Given the description of an element on the screen output the (x, y) to click on. 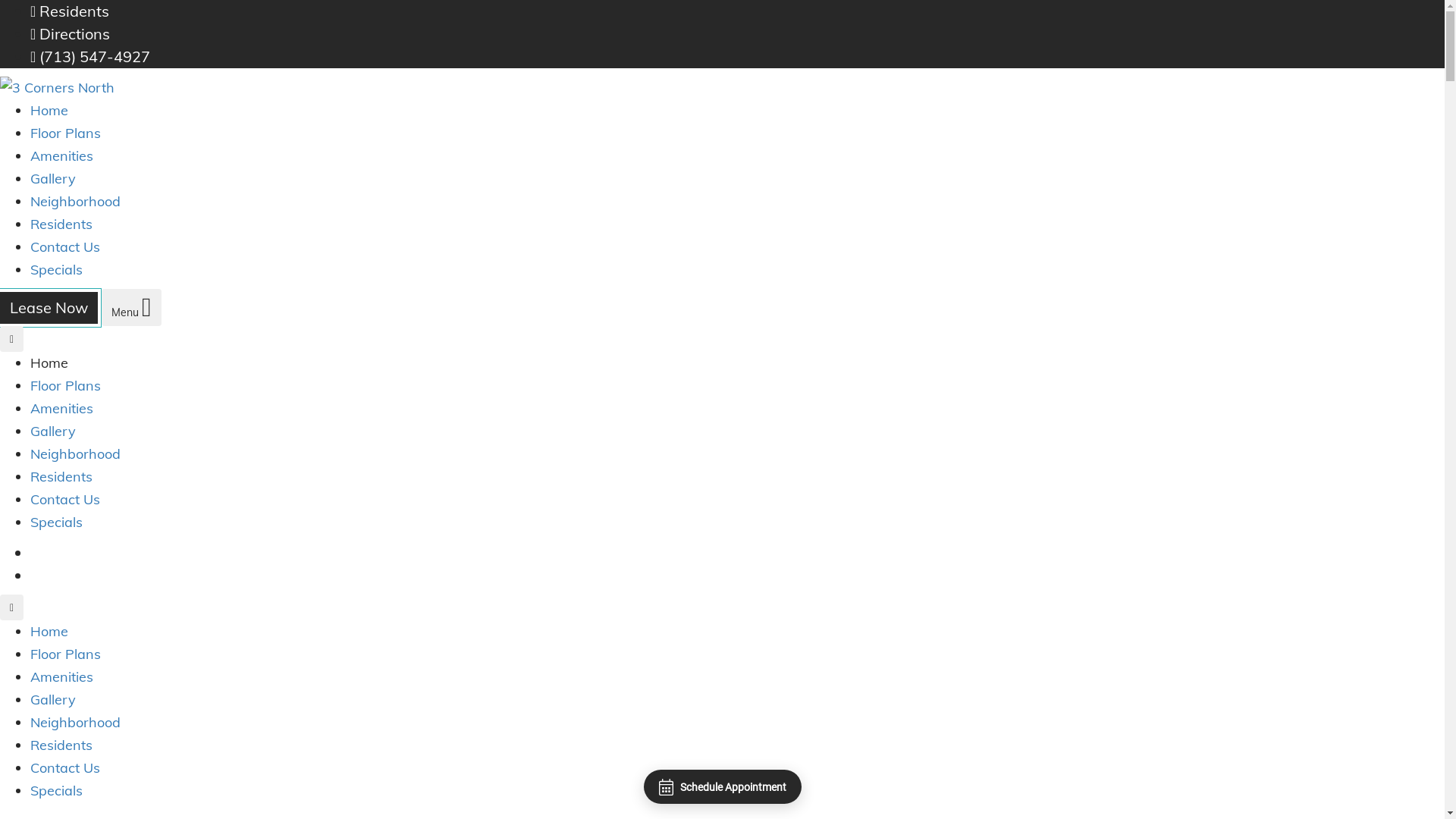
(713) 547-4927 Element type: text (90, 56)
(713) 547-4927 Element type: text (90, 551)
Residents Element type: text (69, 10)
Floor Plans Element type: text (65, 653)
Home Element type: text (49, 631)
Residents Element type: text (61, 476)
Contact Us Element type: text (65, 246)
Floor Plans Element type: text (65, 132)
Directions Element type: text (69, 33)
Neighborhood Element type: text (75, 722)
Gallery Element type: text (52, 699)
Gallery Element type: text (52, 430)
Specials Element type: text (56, 521)
Contact Us Element type: text (65, 767)
Floor Plans Element type: text (65, 385)
Contact Us Element type: text (65, 499)
Neighborhood Element type: text (75, 453)
Amenities Element type: text (61, 155)
Neighborhood Element type: text (75, 201)
Amenities Element type: text (61, 676)
Schedule Appointment Element type: text (721, 786)
Residents Element type: text (61, 744)
Amenities Element type: text (61, 408)
Specials Element type: text (56, 790)
Specials Element type: text (56, 269)
Lease Now Element type: text (48, 307)
Lease Now Element type: text (69, 574)
Home Element type: text (49, 110)
Menu Element type: text (131, 307)
Gallery Element type: text (52, 178)
Residents Element type: text (61, 223)
